Given the description of an element on the screen output the (x, y) to click on. 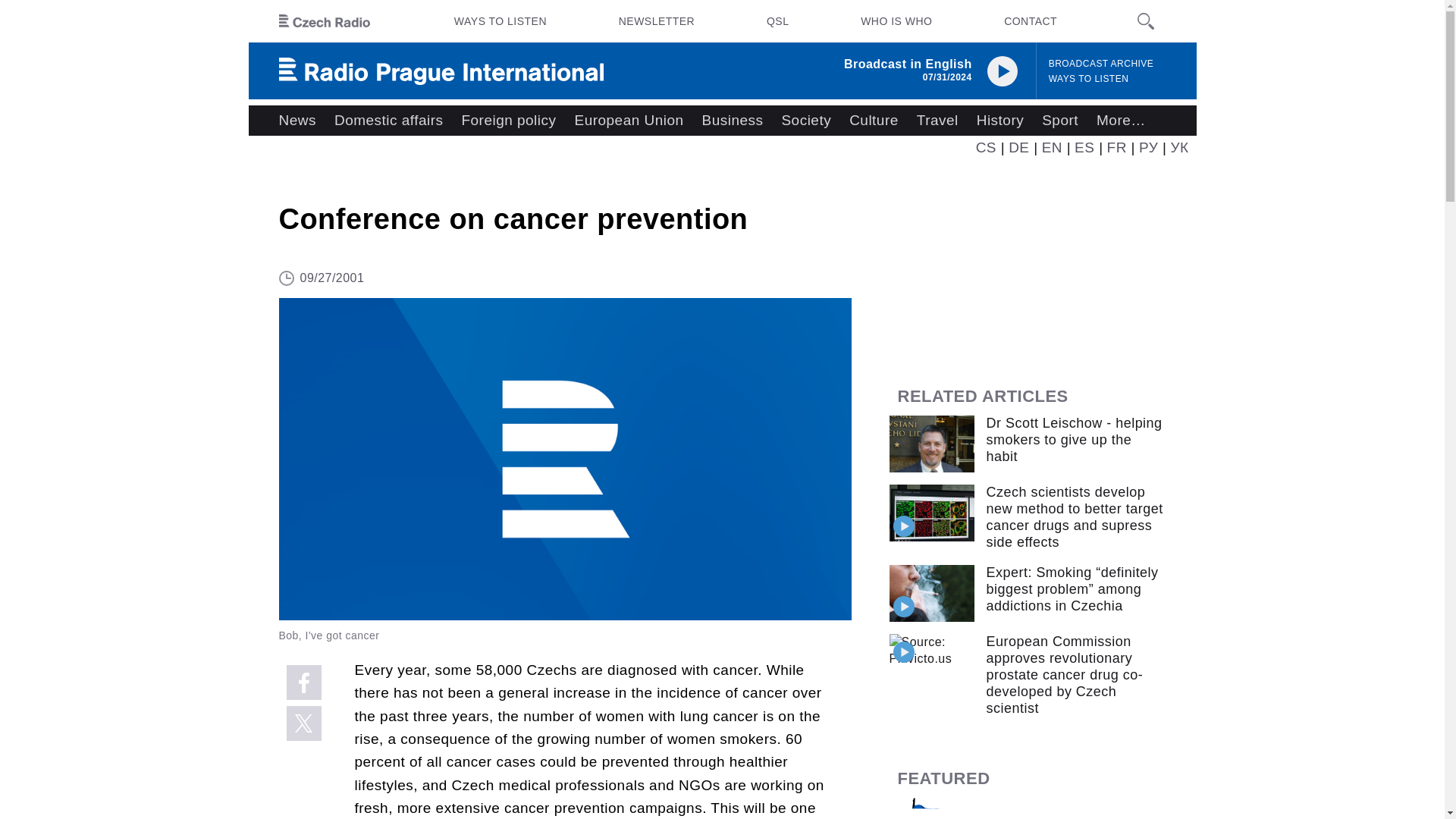
History (1000, 120)
Sport (1059, 120)
WAYS TO LISTEN (1088, 78)
QSL (777, 21)
Broadcast in English  (908, 63)
ES (1084, 147)
NEWSLETTER (656, 21)
Culture (873, 120)
Domestic affairs (388, 120)
EN (1052, 147)
WHO IS WHO (896, 21)
DE (1019, 147)
Travel (937, 120)
European Union (628, 120)
Czech Radio (324, 21)
